Given the description of an element on the screen output the (x, y) to click on. 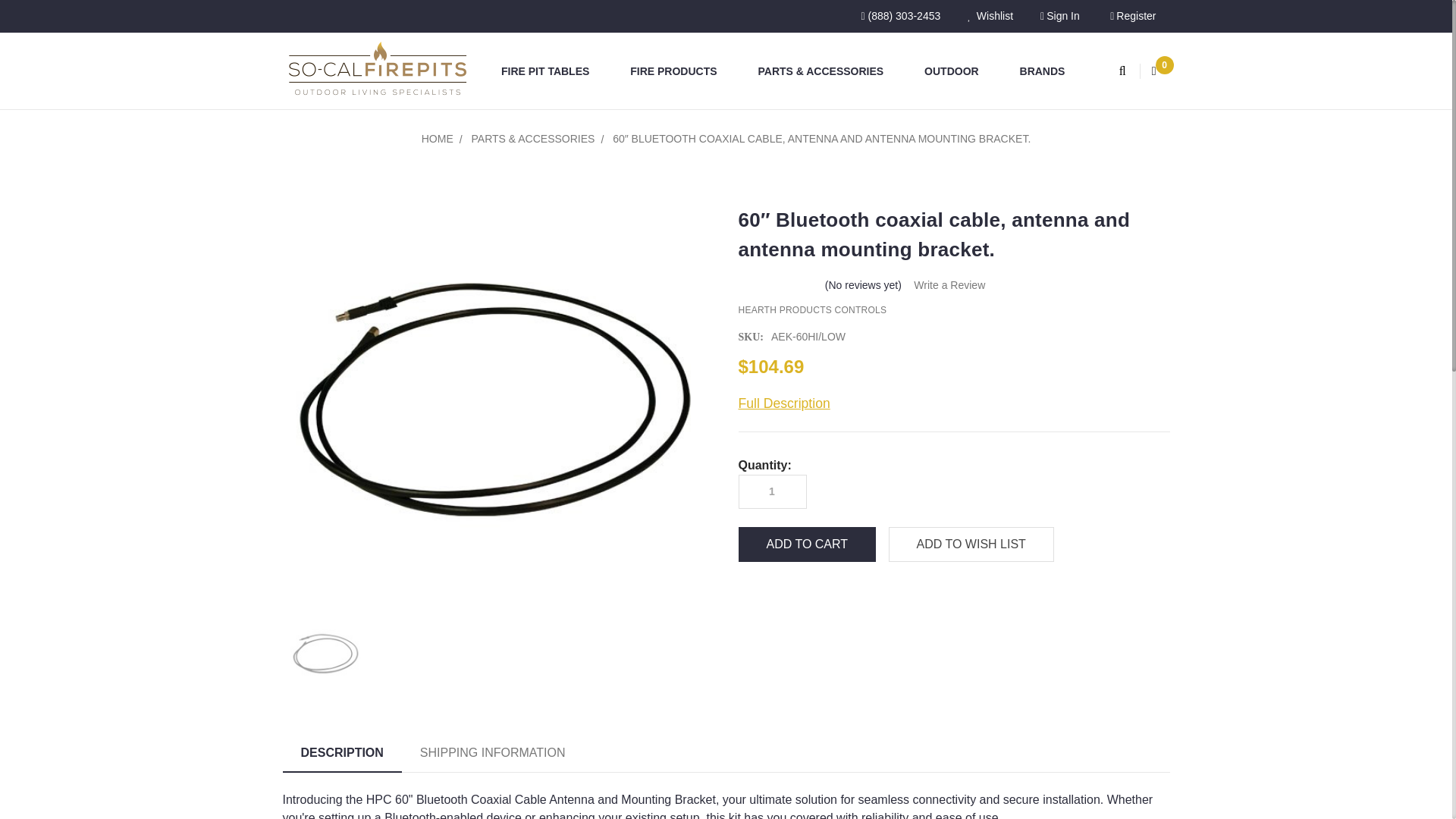
Add to Cart (807, 544)
Add to Wish list (971, 544)
Sign In (1059, 16)
FIRE PRODUCTS (679, 70)
Wishlist (989, 16)
Register (1132, 16)
1 (771, 491)
FIRE PIT TABLES (551, 70)
Wishlist (989, 16)
SoCal Fire Pits (376, 70)
